Given the description of an element on the screen output the (x, y) to click on. 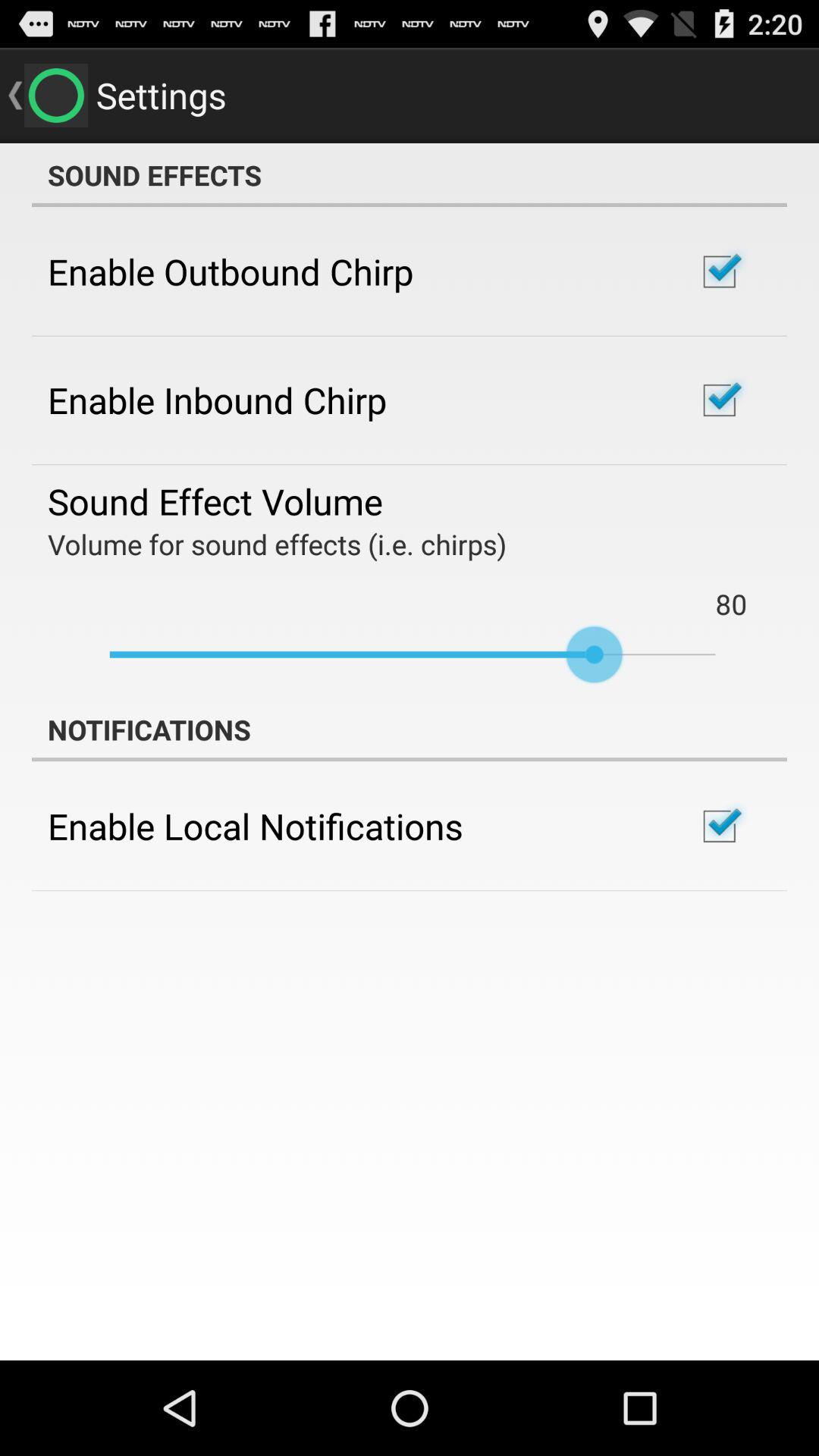
swipe until the 80 item (731, 603)
